Given the description of an element on the screen output the (x, y) to click on. 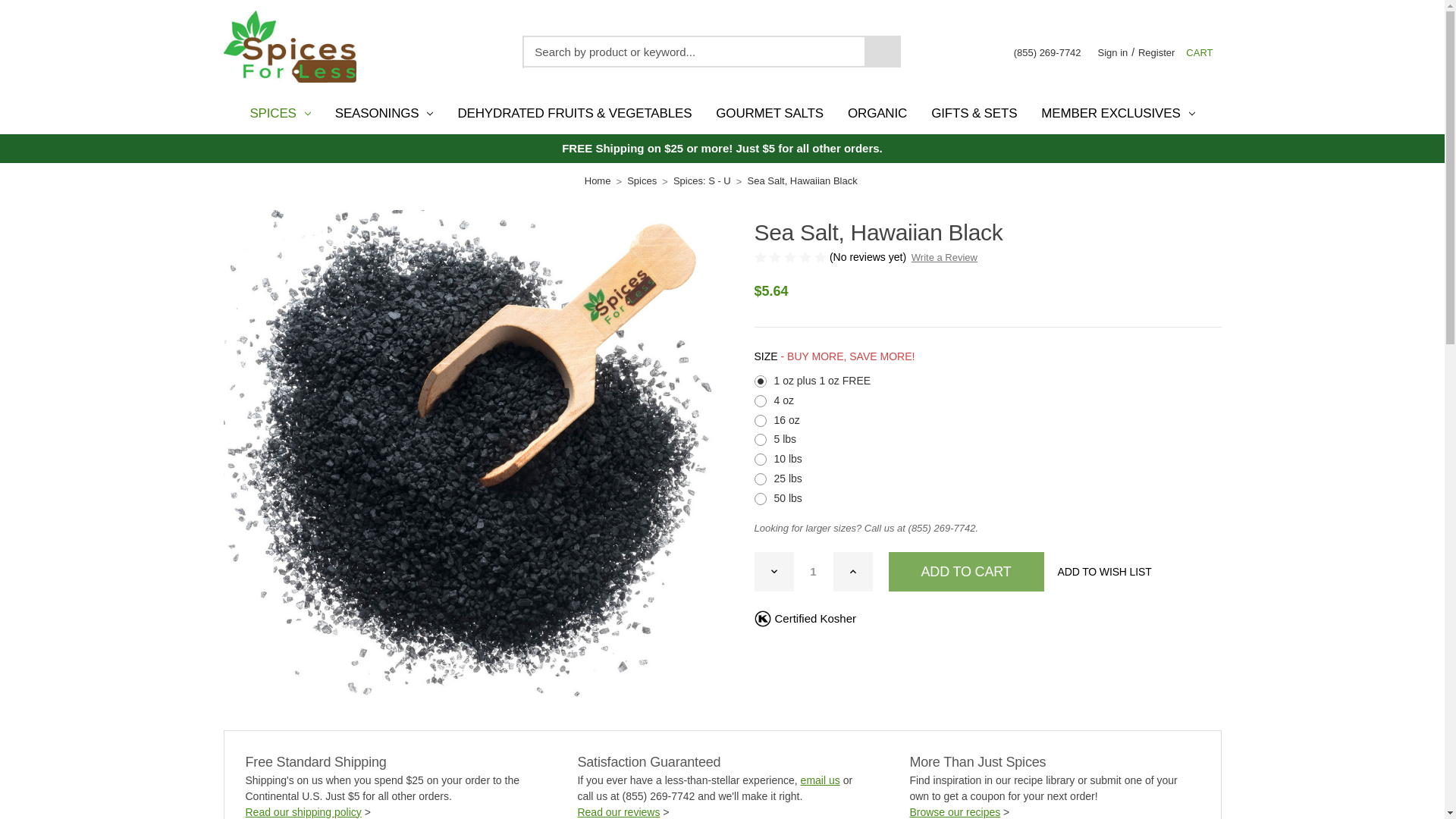
ORGANIC (876, 113)
MEMBER EXCLUSIVES (1118, 113)
Register (1155, 53)
SPICES (279, 113)
SpicesForLess (288, 46)
SEASONINGS (384, 113)
1 (812, 571)
CART (1199, 53)
Sign in (1113, 53)
